Given the description of an element on the screen output the (x, y) to click on. 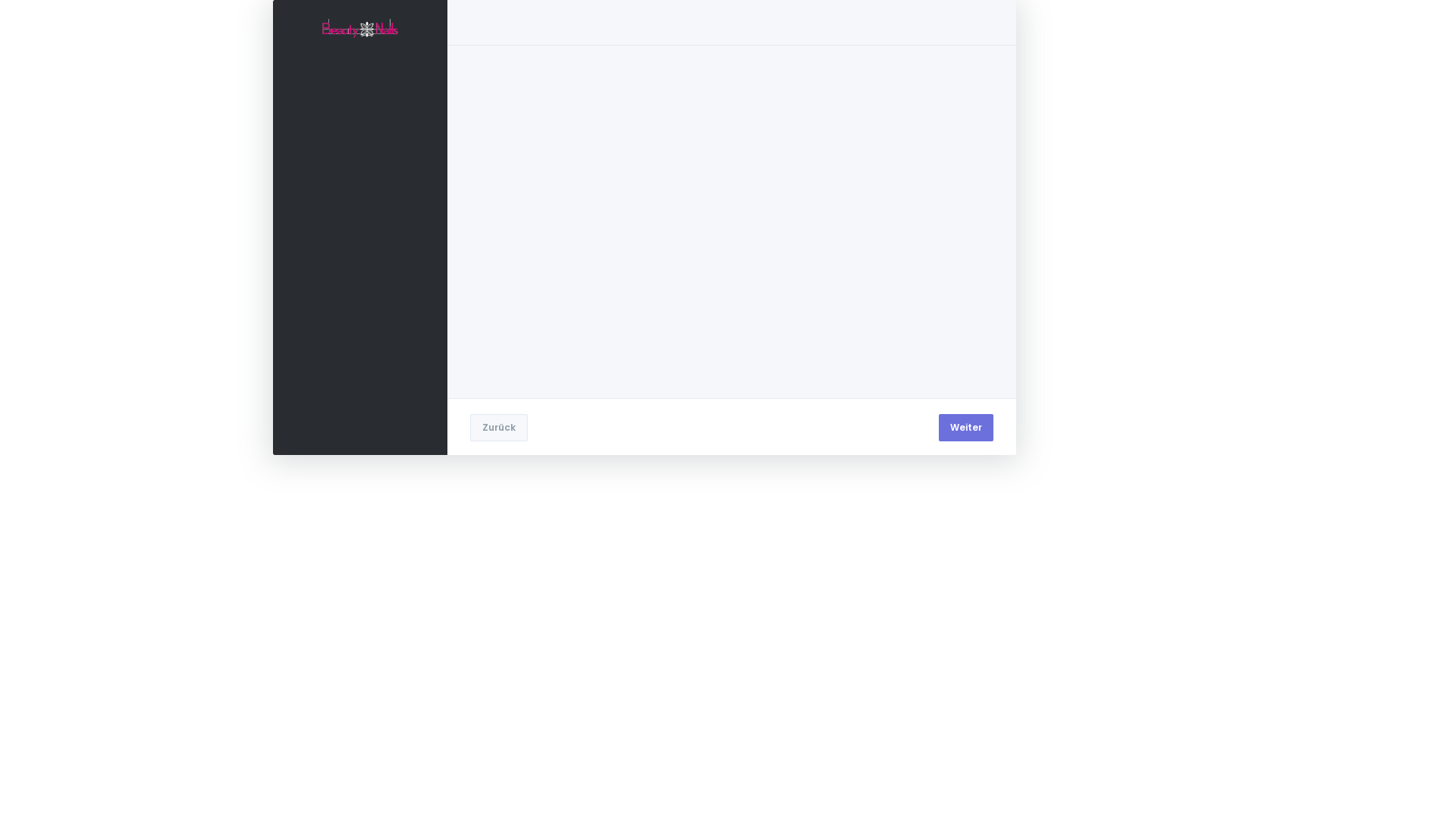
Weiter Element type: text (965, 427)
